Given the description of an element on the screen output the (x, y) to click on. 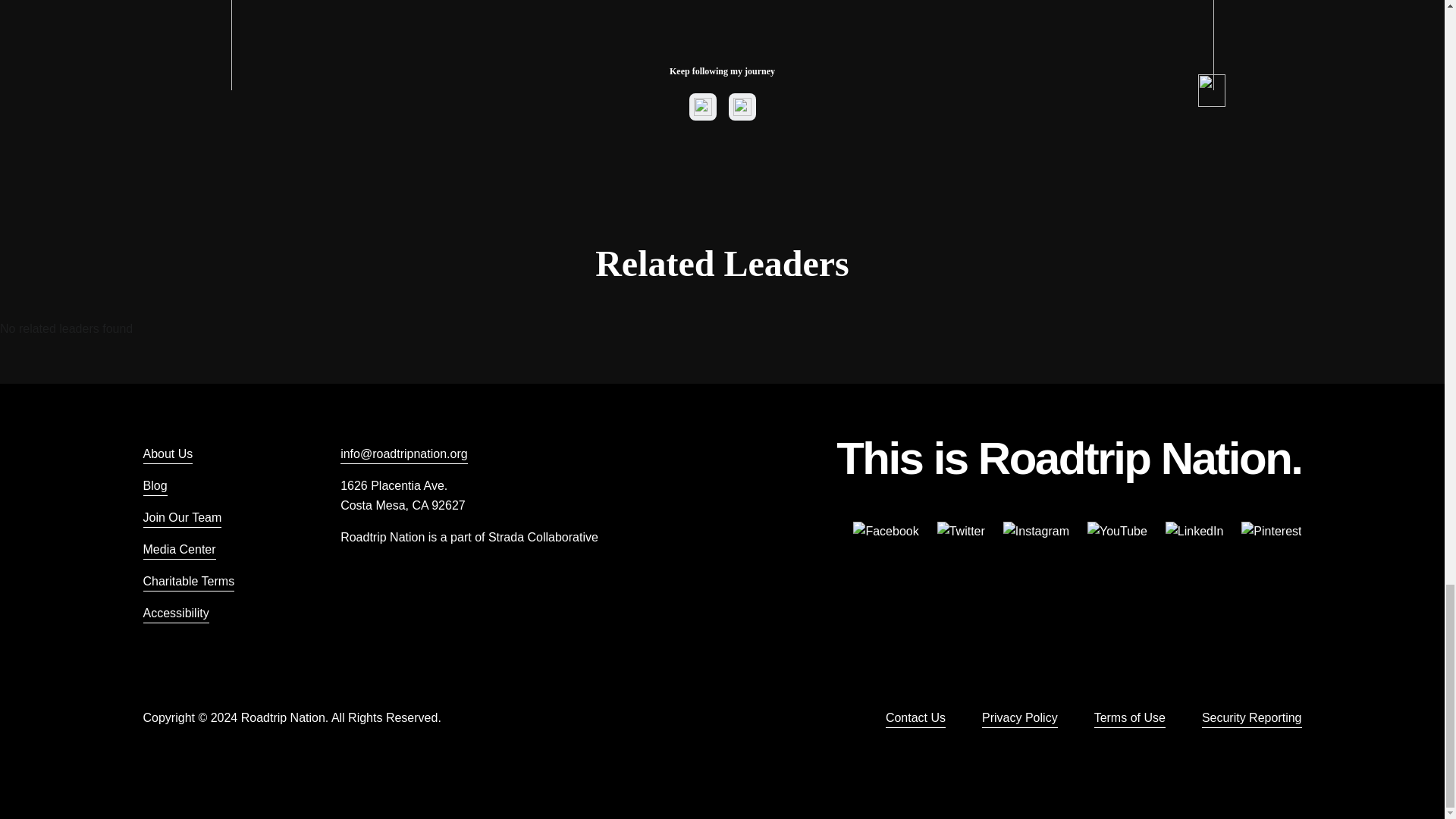
Privacy Policy (1019, 718)
Terms of Use (1130, 718)
Charitable Terms (188, 581)
Contact Us (914, 718)
Blog (154, 485)
About Us (167, 454)
Security Reporting (1251, 718)
Accessibility (175, 613)
Join Our Team (181, 517)
Media Center (178, 549)
